Given the description of an element on the screen output the (x, y) to click on. 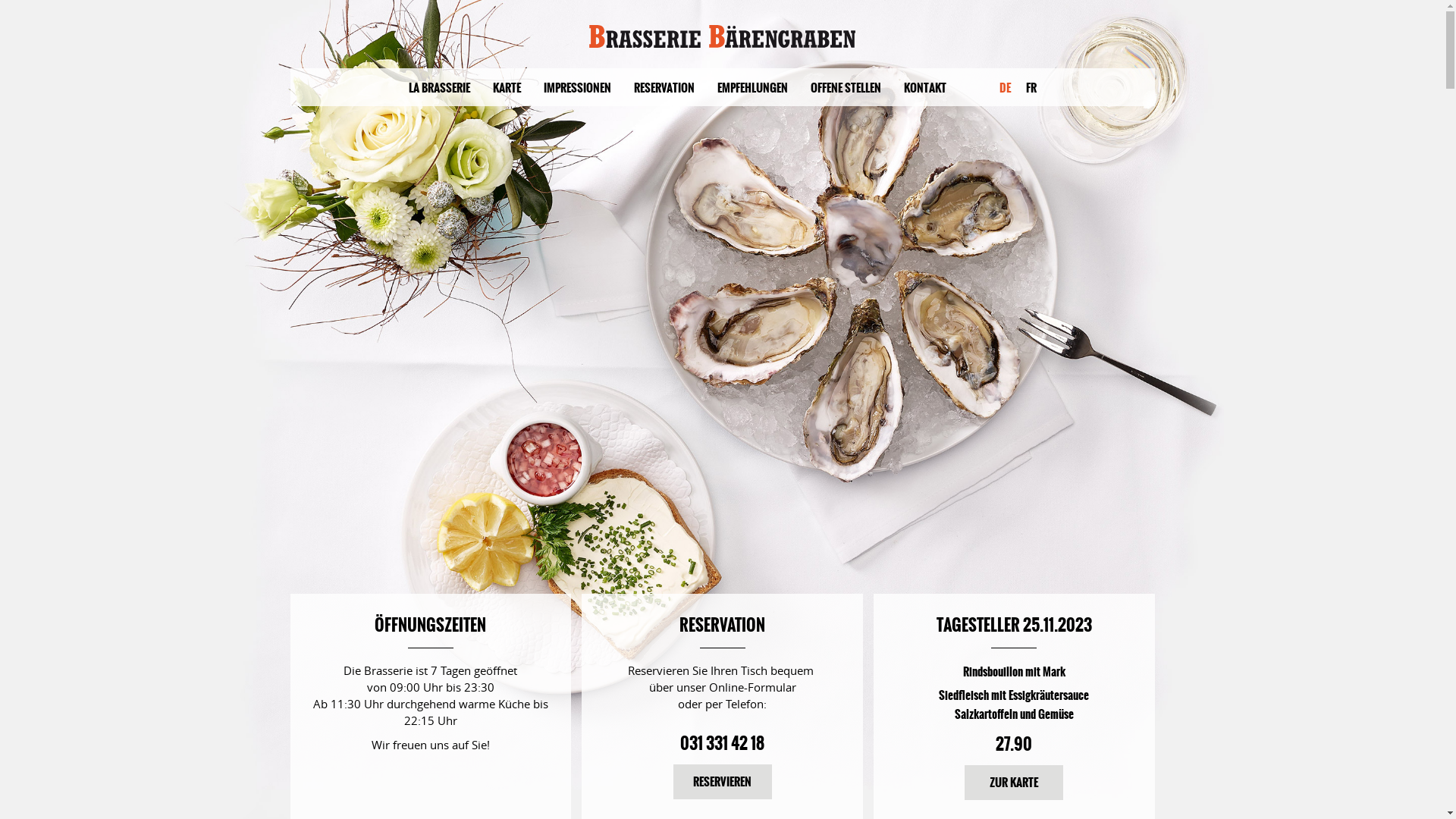
IMPRESSIONEN Element type: text (577, 87)
RESERVIEREN Element type: text (722, 781)
EMPFEHLUNGEN Element type: text (751, 87)
FR Element type: text (1031, 87)
KONTAKT Element type: text (924, 87)
DE Element type: text (1000, 87)
LA BRASSERIE Element type: text (439, 87)
ZUR KARTE Element type: text (1013, 782)
RESERVATION Element type: text (663, 87)
OFFENE STELLEN Element type: text (845, 87)
KARTE Element type: text (505, 87)
